Given the description of an element on the screen output the (x, y) to click on. 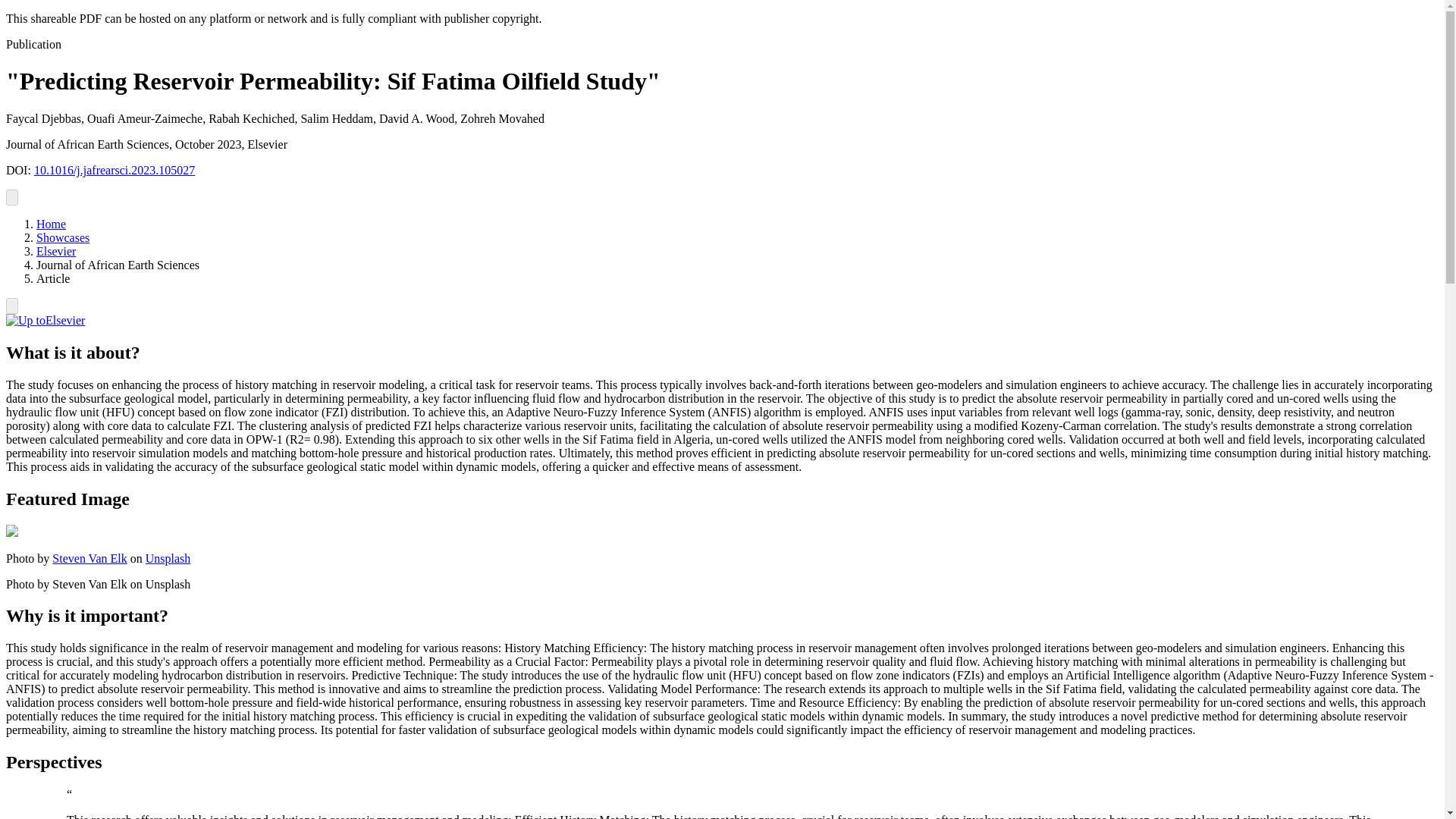
Showcases (62, 237)
Elsevier (55, 250)
Home (50, 223)
Steven Van Elk (89, 558)
Unsplash (167, 558)
Elsevier (44, 319)
